Given the description of an element on the screen output the (x, y) to click on. 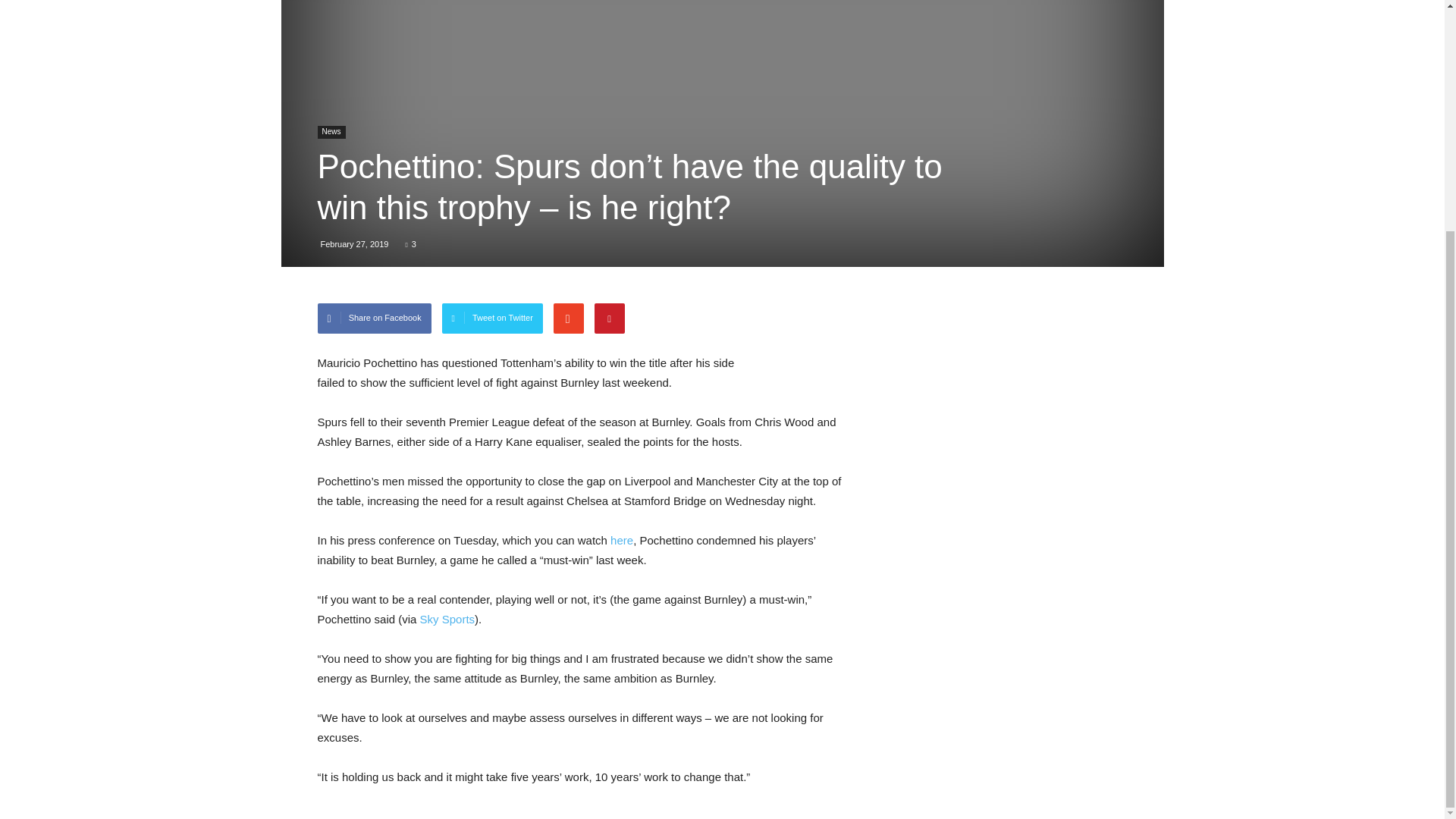
Tweet on Twitter (492, 318)
3 (409, 243)
Share on Facebook (373, 318)
News (331, 132)
